Given the description of an element on the screen output the (x, y) to click on. 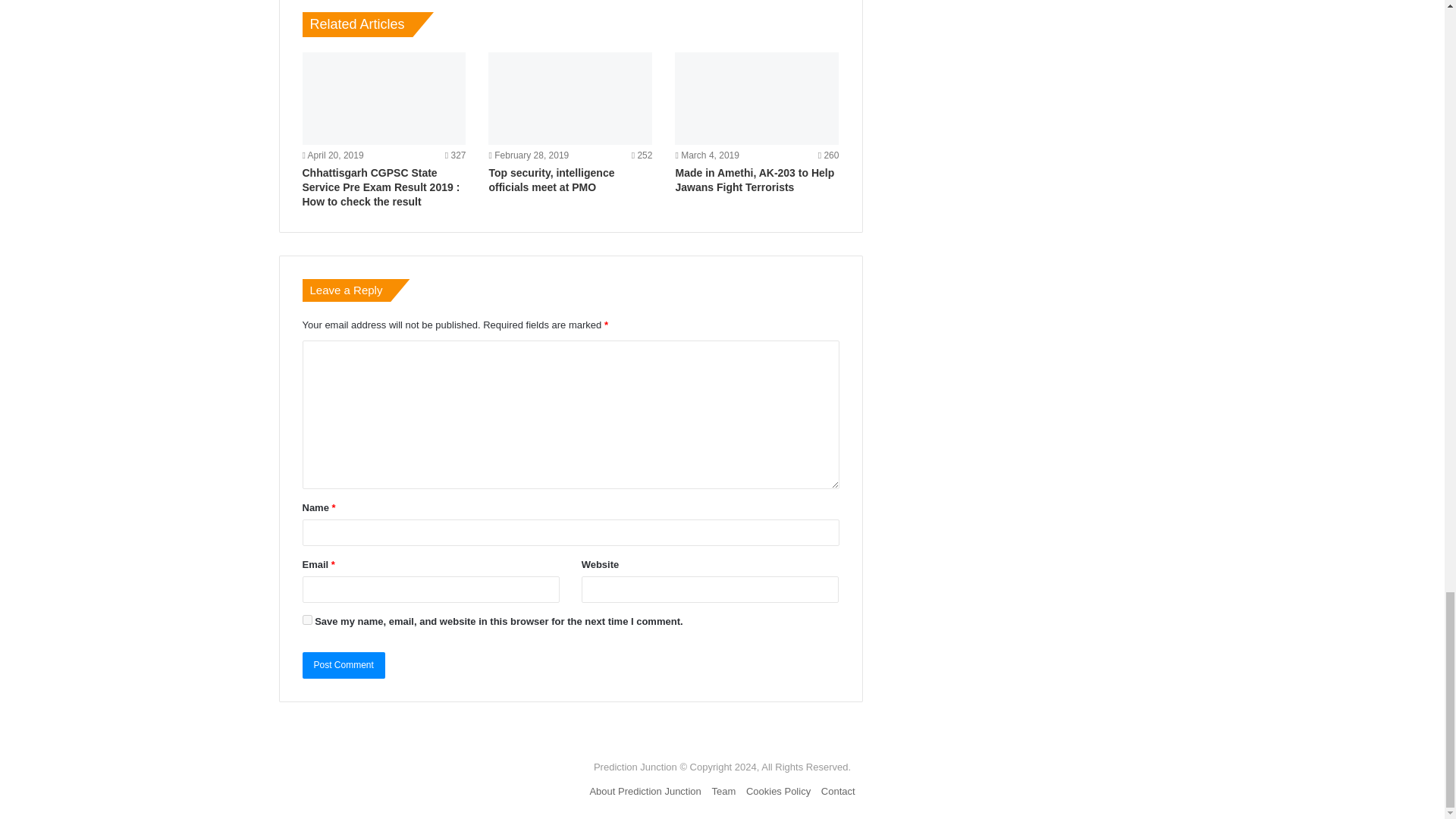
Top security, intelligence officials meet at PMO (569, 98)
Made in Amethi, AK-203 to Help Jawans Fight Terrorists (756, 98)
Top security, intelligence officials meet at PMO (550, 180)
yes (306, 619)
Post Comment (342, 664)
Made in Amethi, AK-203 to Help Jawans Fight Terrorists (754, 180)
